Given the description of an element on the screen output the (x, y) to click on. 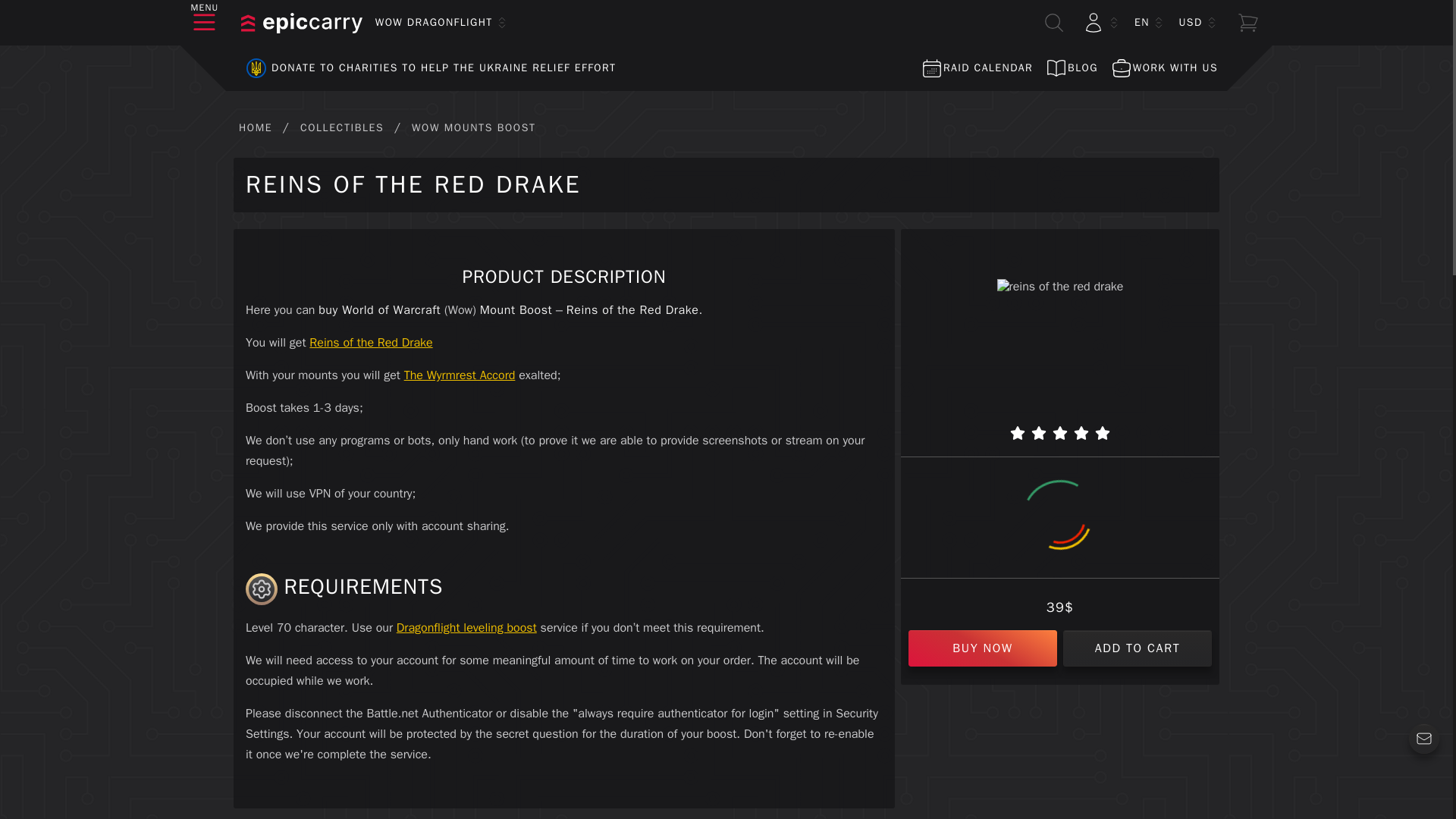
Reins of the Red Drake (370, 342)
DONATE TO CHARITIES TO HELP THE UKRAINE RELIEF EFFORT (424, 67)
WORK WITH US (1163, 67)
ADD TO CART (1136, 647)
COLLECTIBLES (341, 127)
Dragonflight leveling boost (466, 627)
WOW MOUNTS BOOST (473, 127)
BLOG (1071, 67)
The Wyrmrest Accord (459, 375)
RAID CALENDAR (976, 67)
MENU (204, 22)
BUY NOW (982, 647)
HOME (255, 127)
